Given the description of an element on the screen output the (x, y) to click on. 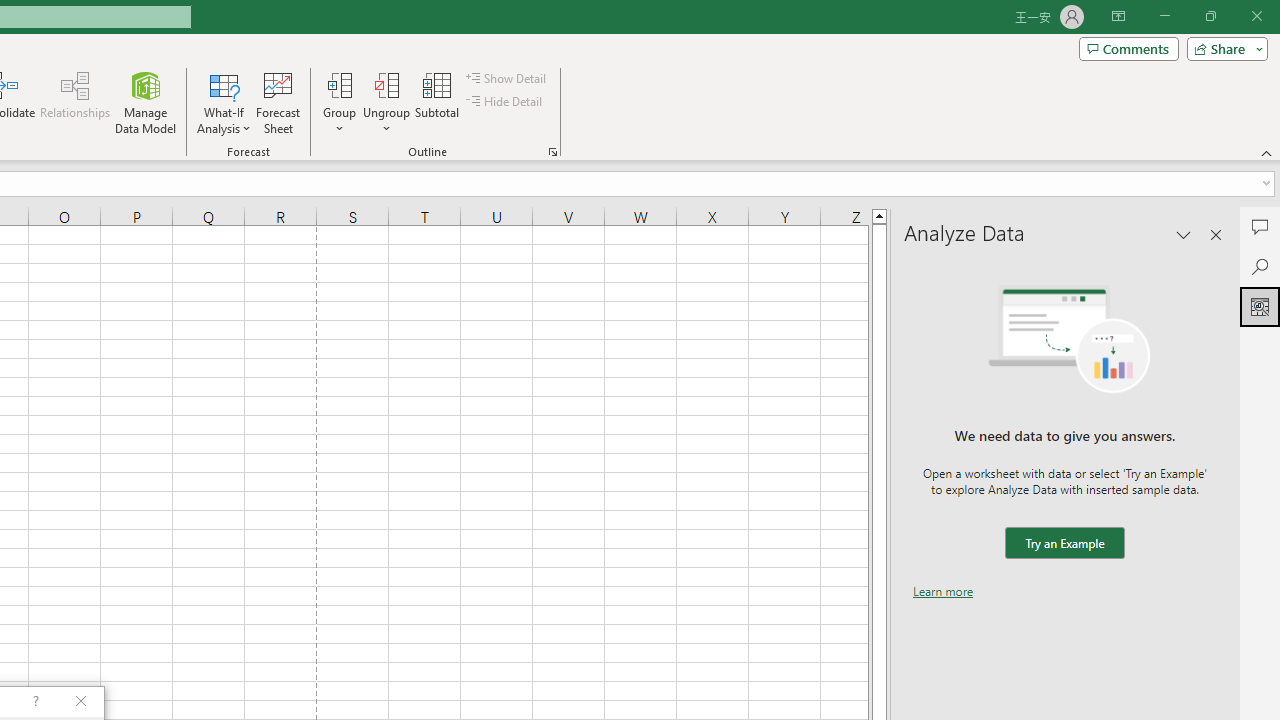
Show Detail (507, 78)
We need data to give you answers. Try an Example (1064, 543)
Learn more (943, 591)
